Given the description of an element on the screen output the (x, y) to click on. 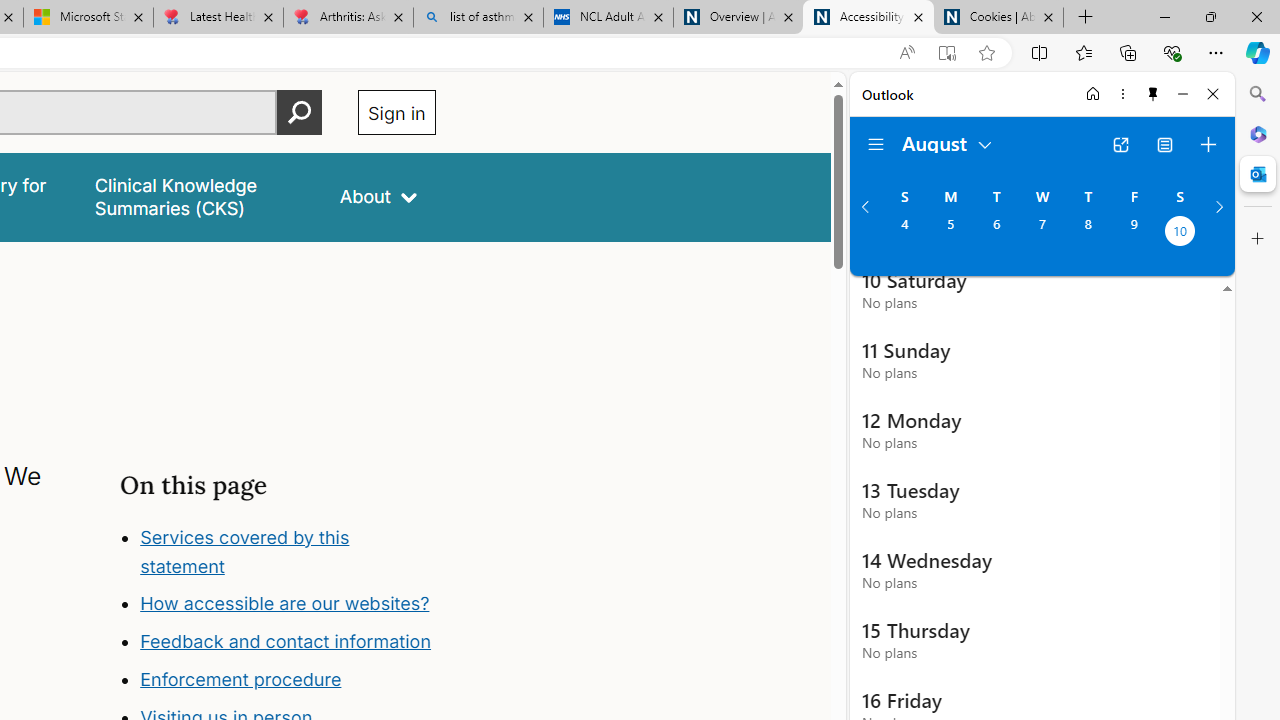
list of asthma inhalers uk - Search (477, 17)
Sunday, August 4, 2024.  (904, 233)
Arthritis: Ask Health Professionals (348, 17)
About (378, 196)
Monday, August 5, 2024.  (950, 233)
Feedback and contact information (287, 642)
Cookies | About | NICE (998, 17)
Services covered by this statement (287, 551)
August (948, 141)
